Given the description of an element on the screen output the (x, y) to click on. 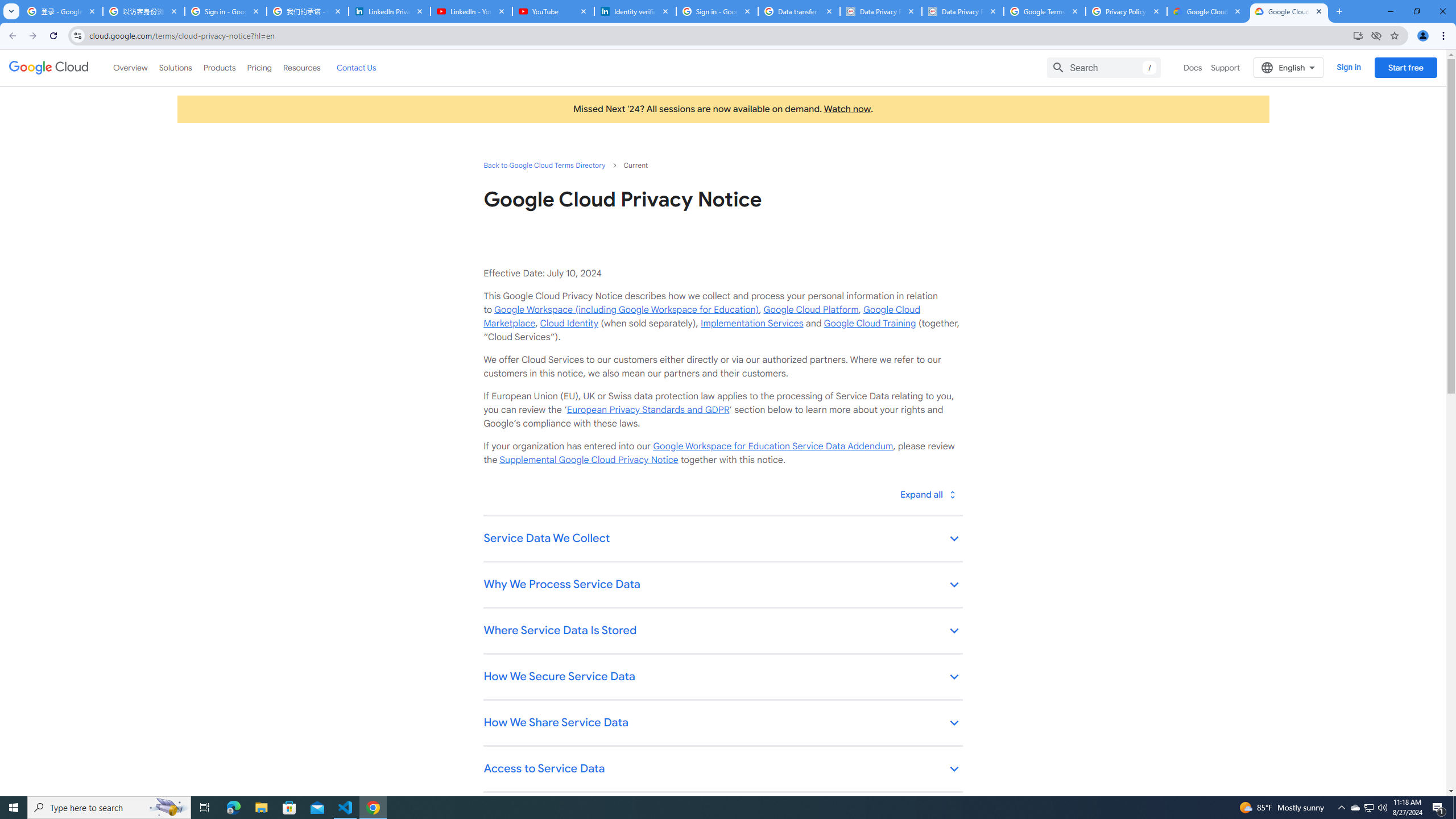
Solutions (175, 67)
Install Google Cloud (1358, 35)
How We Secure Service Data keyboard_arrow_down (722, 677)
Docs (1192, 67)
Google Cloud Privacy Notice (1289, 11)
